Given the description of an element on the screen output the (x, y) to click on. 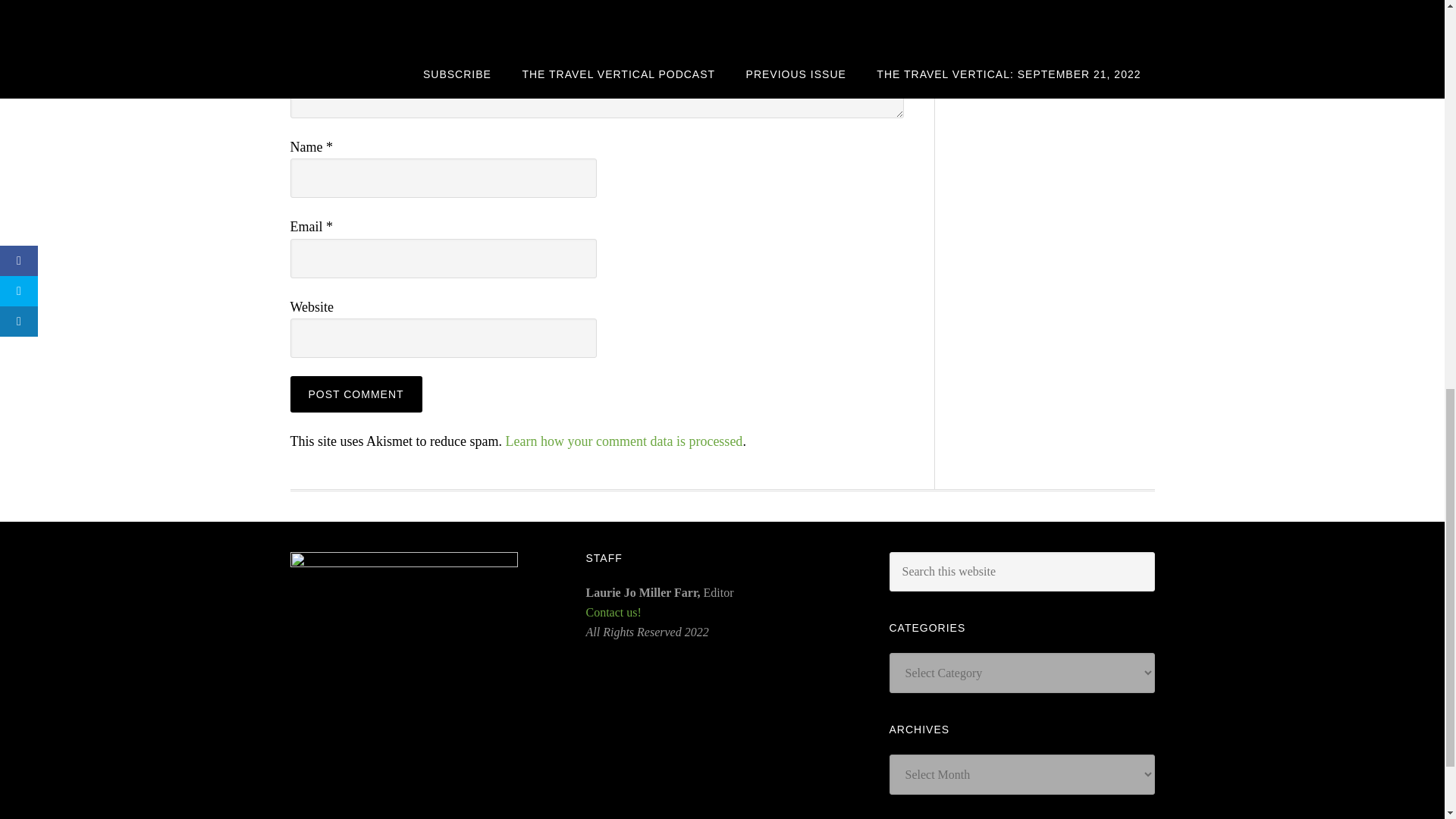
Post Comment (355, 393)
Learn how your comment data is processed (623, 441)
Post Comment (355, 393)
Contact us! (612, 612)
